Given the description of an element on the screen output the (x, y) to click on. 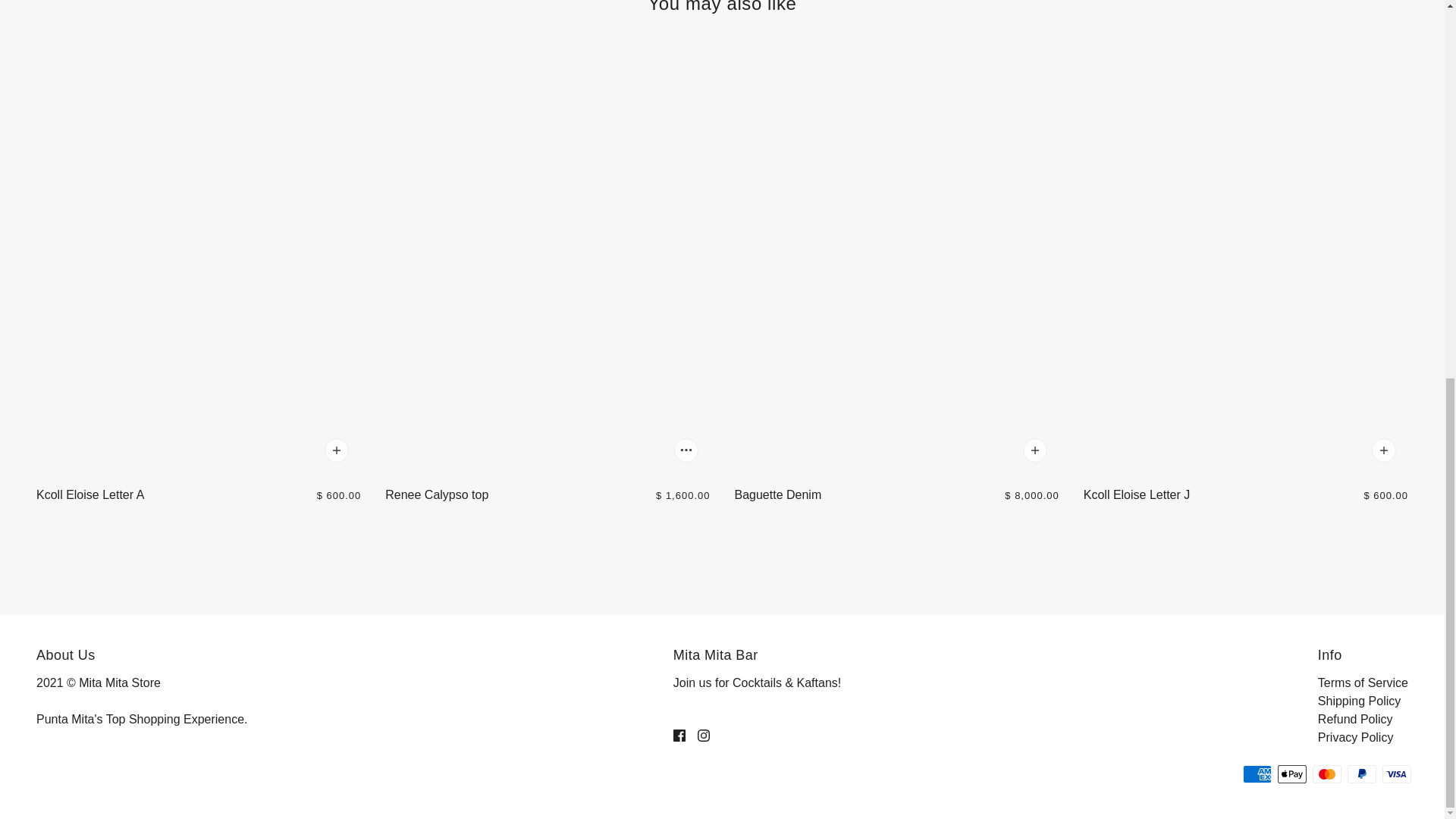
Privacy Policy (1355, 737)
Shipping Policy (1358, 700)
Terms of Service (1362, 682)
American Express (1257, 773)
Apple Pay (1292, 773)
Refund Policy (1355, 718)
Visa (1395, 773)
PayPal (1361, 773)
Mastercard (1326, 773)
